Given the description of an element on the screen output the (x, y) to click on. 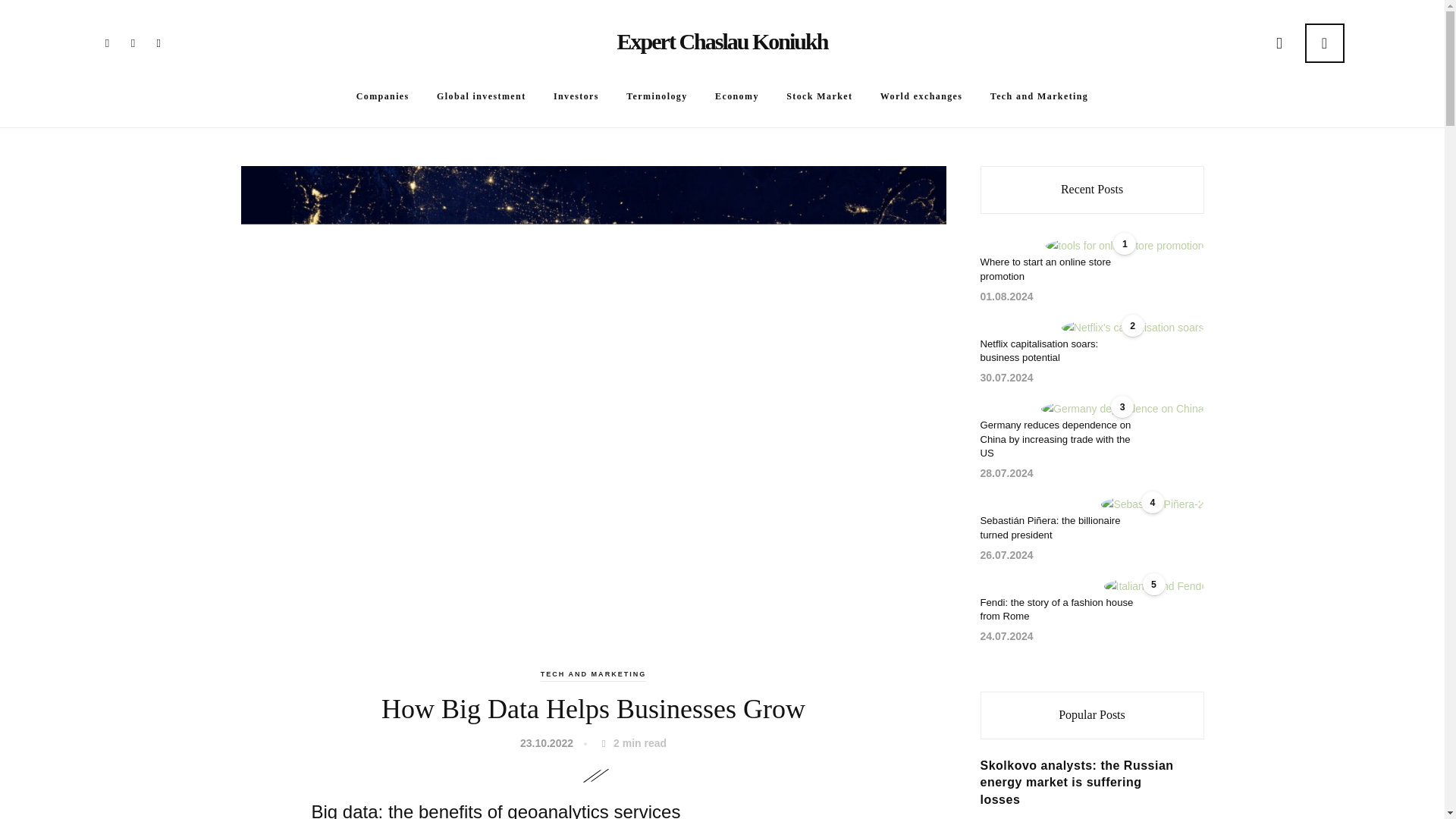
Companies (382, 95)
Economy (736, 95)
23.10.2022 (549, 742)
TECH AND MARKETING (593, 673)
Investors (575, 95)
Terminology (656, 95)
Global investment (480, 95)
World exchanges (921, 95)
Tech and Marketing (1038, 95)
Expert Chaslau Koniukh (722, 41)
Stock Market (818, 95)
